Given the description of an element on the screen output the (x, y) to click on. 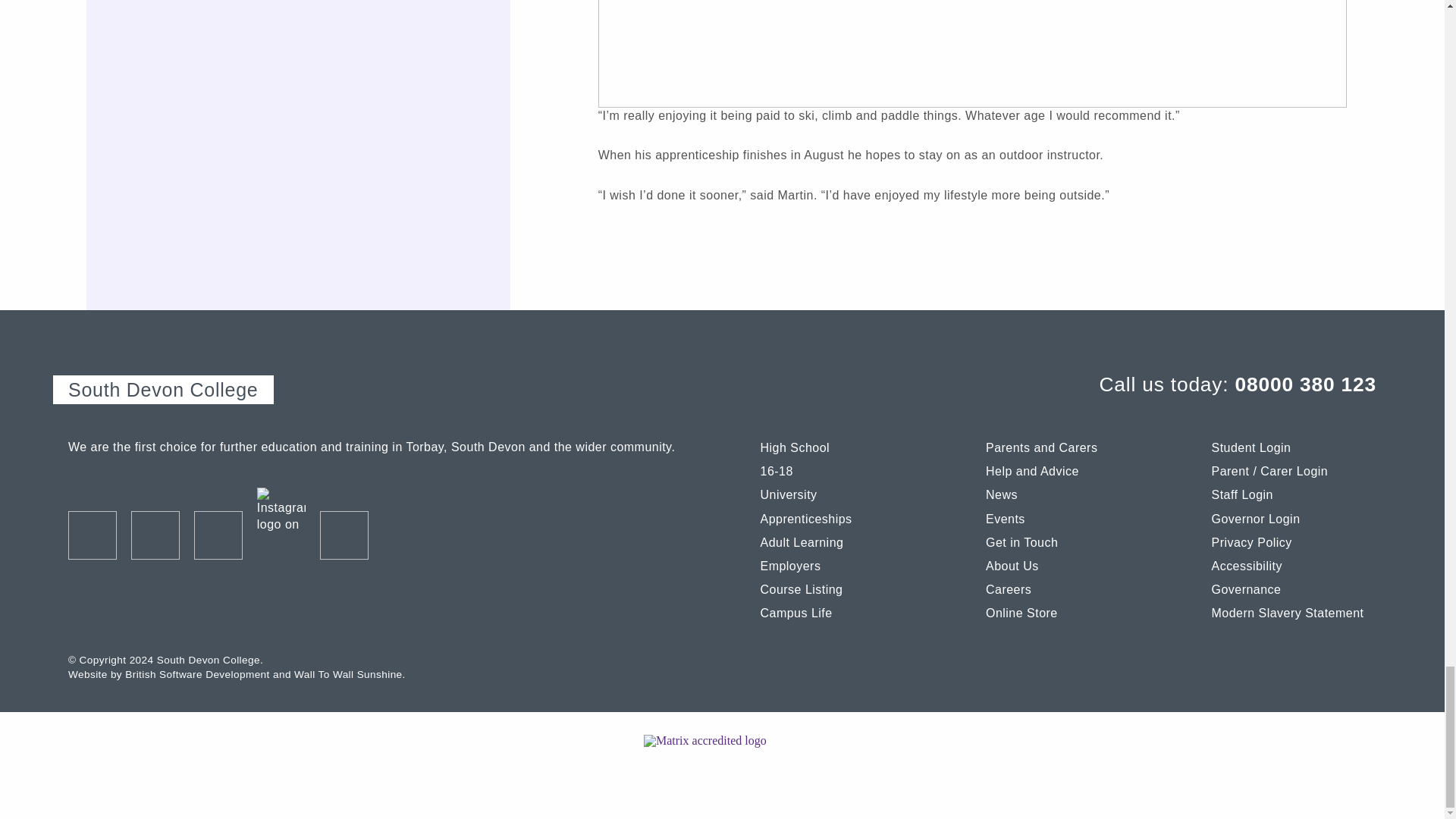
16-18 (842, 468)
Adult Learning (842, 540)
Course Listing (842, 586)
University (842, 492)
Apprenticeships (842, 515)
Employers (842, 563)
Campus Life (842, 610)
High School (842, 447)
